Given the description of an element on the screen output the (x, y) to click on. 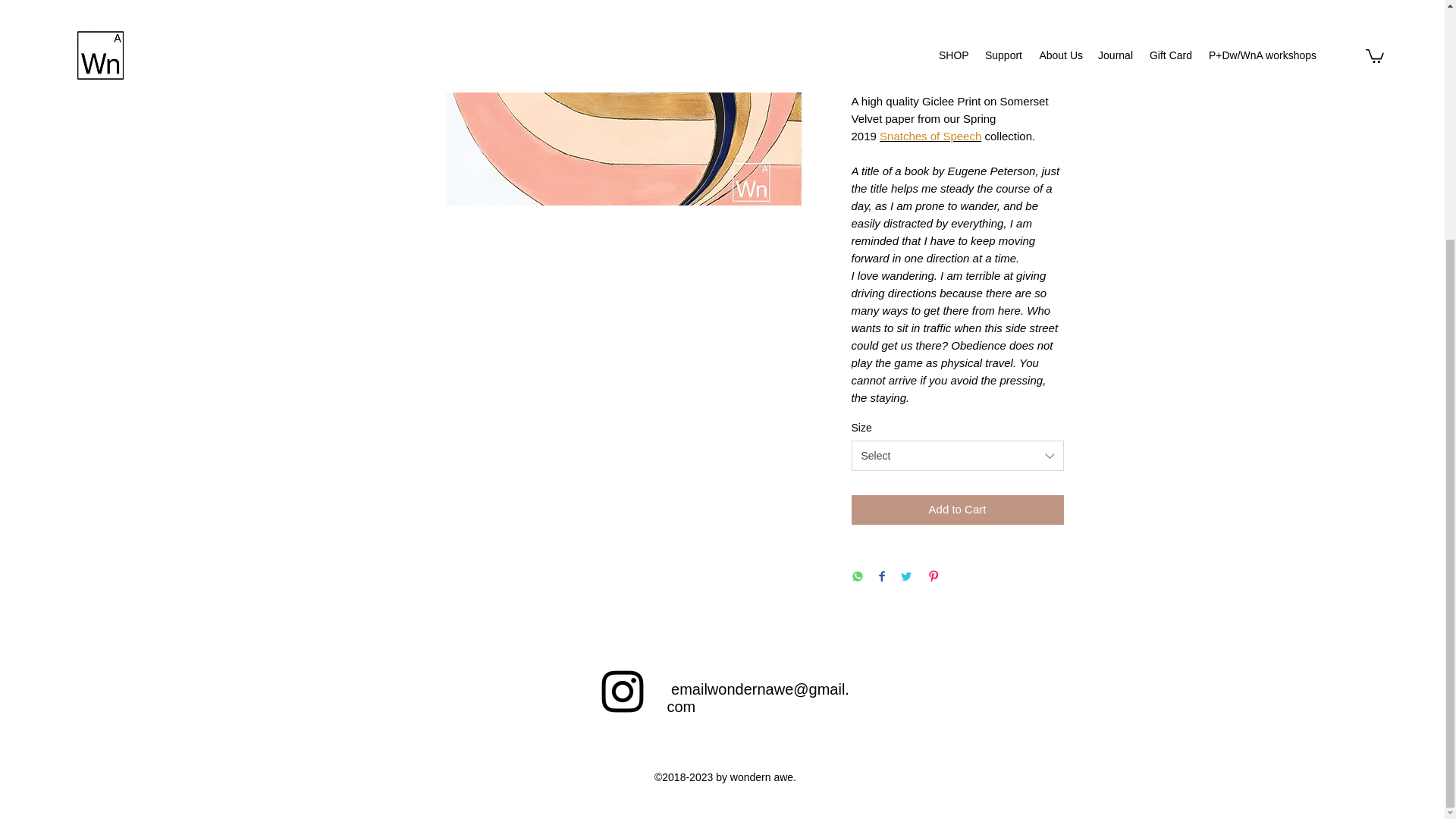
Add to Cart (956, 509)
Select (956, 455)
Snatches of Speech (930, 135)
